Given the description of an element on the screen output the (x, y) to click on. 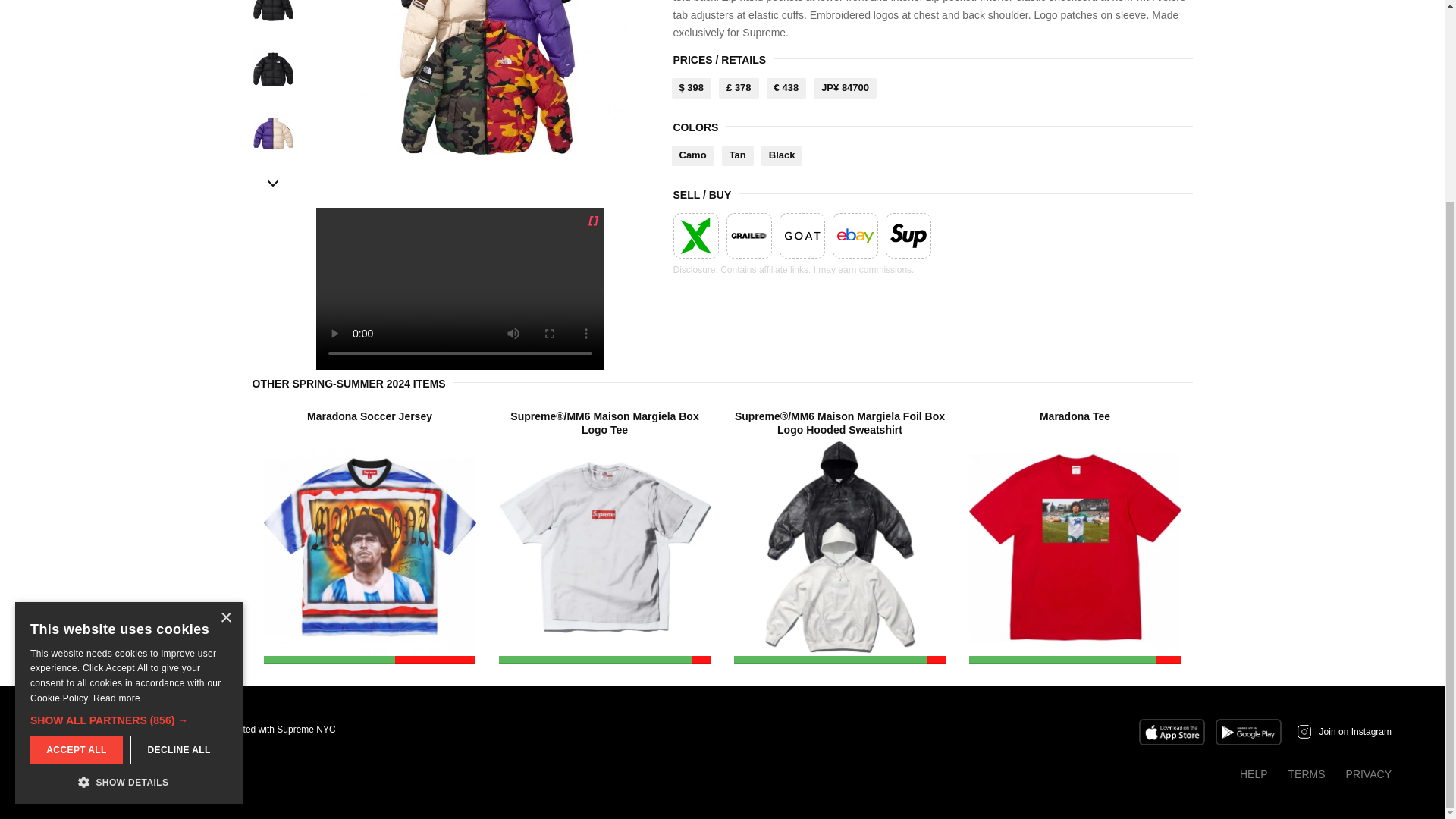
Supreme Supreme The North Face Split Nuptse Jacket (487, 77)
